Given the description of an element on the screen output the (x, y) to click on. 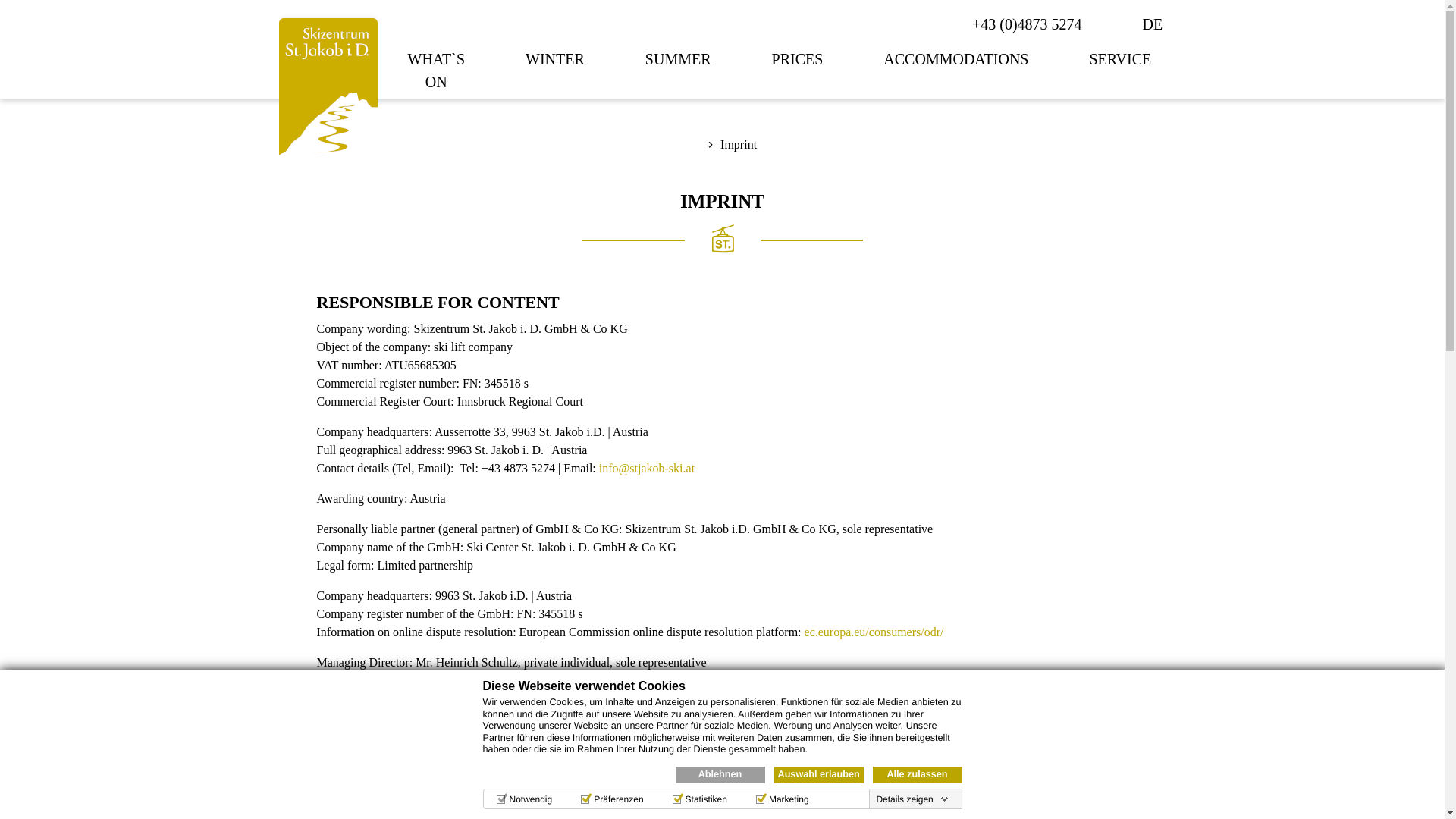
Auswahl erlauben (818, 774)
Alle zulassen (916, 774)
Details zeigen (911, 799)
Ablehnen (719, 774)
